Given the description of an element on the screen output the (x, y) to click on. 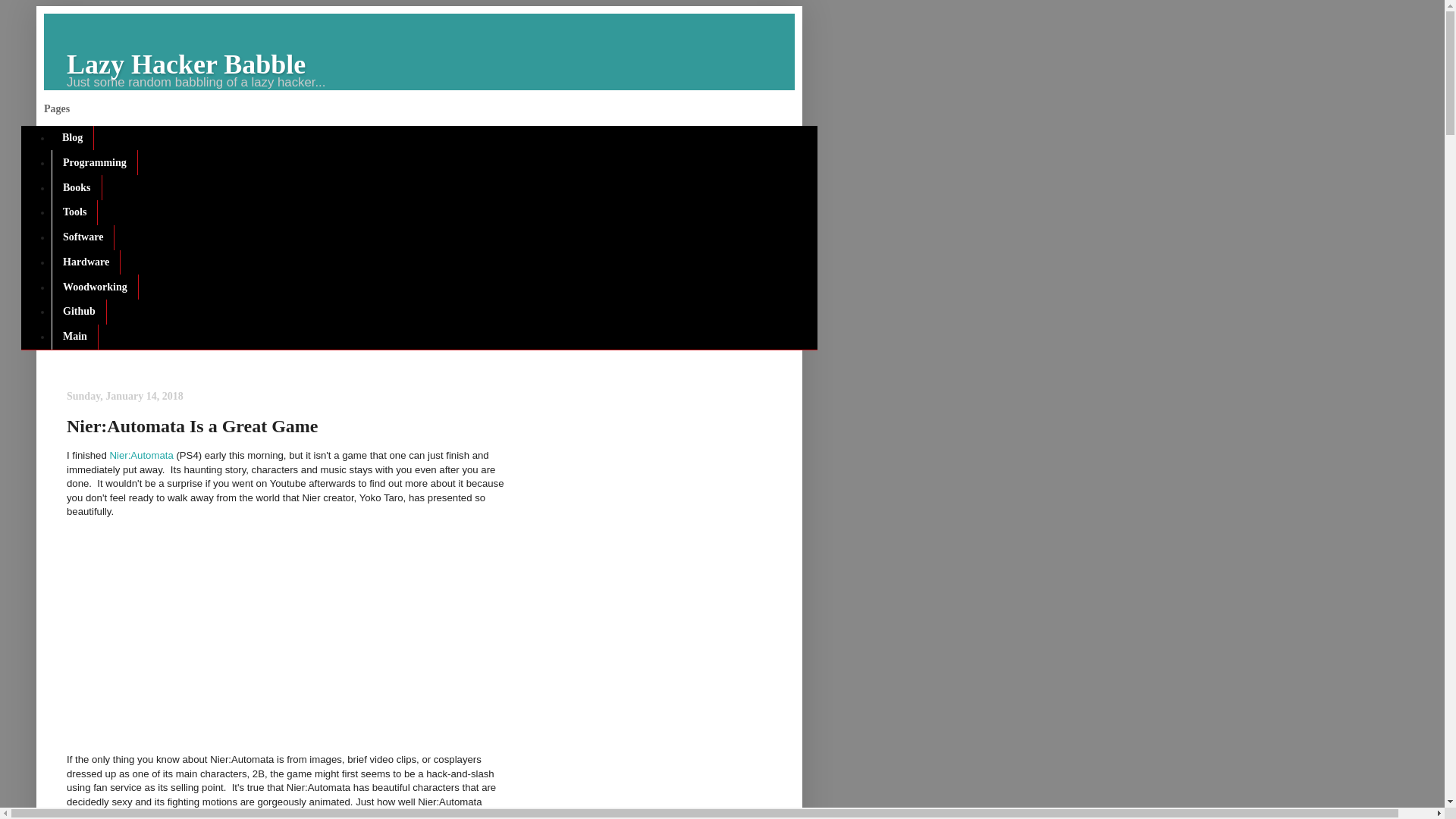
Nier:Automata (141, 455)
Blog (72, 138)
Hardware (85, 262)
Software (82, 237)
Woodworking (94, 286)
Tools (73, 212)
Github (78, 311)
Lazy Hacker Babble (185, 64)
Books (75, 187)
Main (74, 336)
Programming (94, 162)
